Given the description of an element on the screen output the (x, y) to click on. 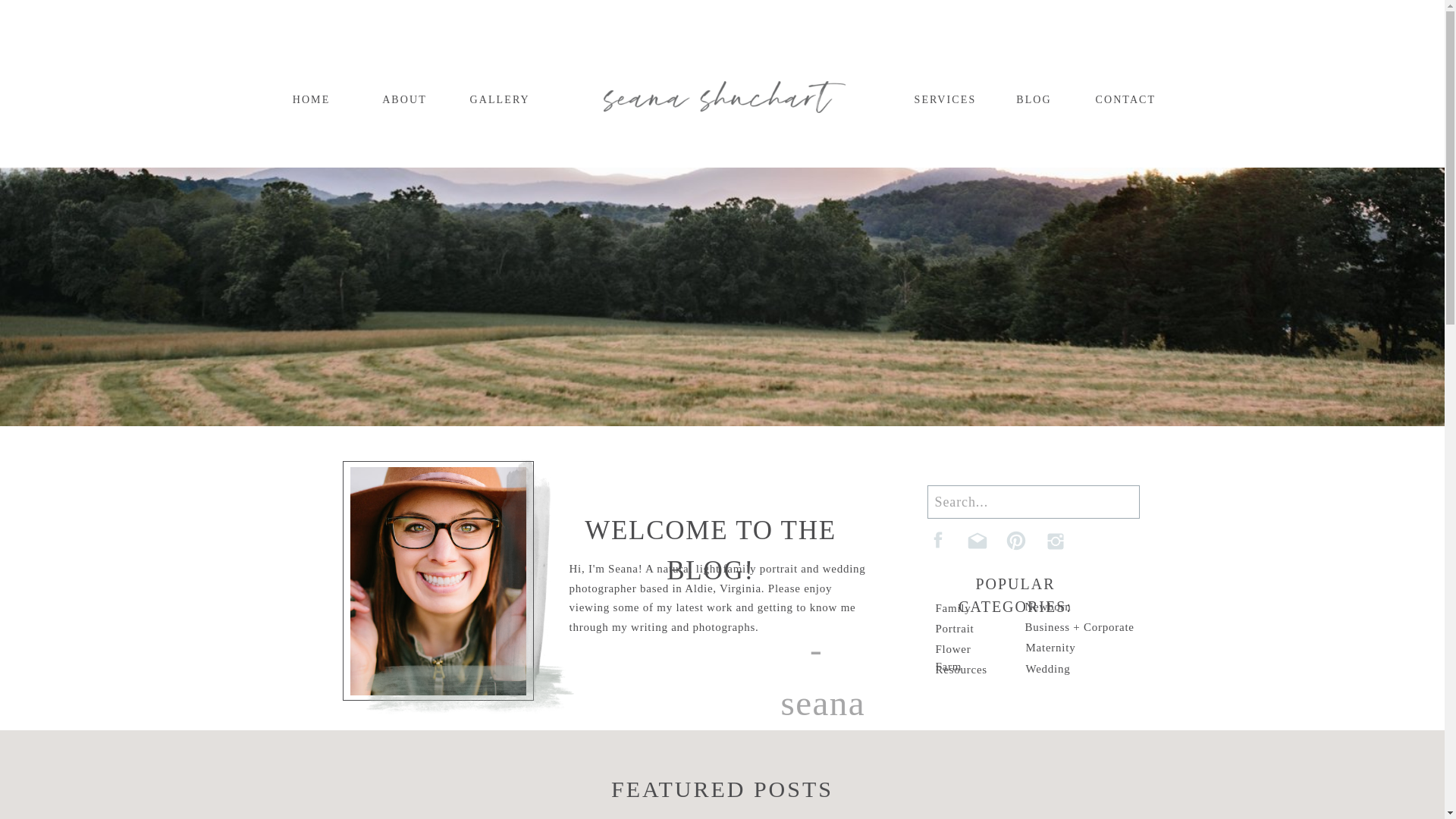
Wedding (1053, 670)
SERVICES (942, 98)
BLOG (1034, 98)
Family (956, 609)
Resources (966, 670)
Maternity (1051, 649)
GALLERY (497, 98)
ABOUT (403, 98)
CONTACT (1122, 98)
Newborn (1054, 608)
Flower Farm (966, 650)
HOME (311, 98)
Portrait (960, 629)
